Given the description of an element on the screen output the (x, y) to click on. 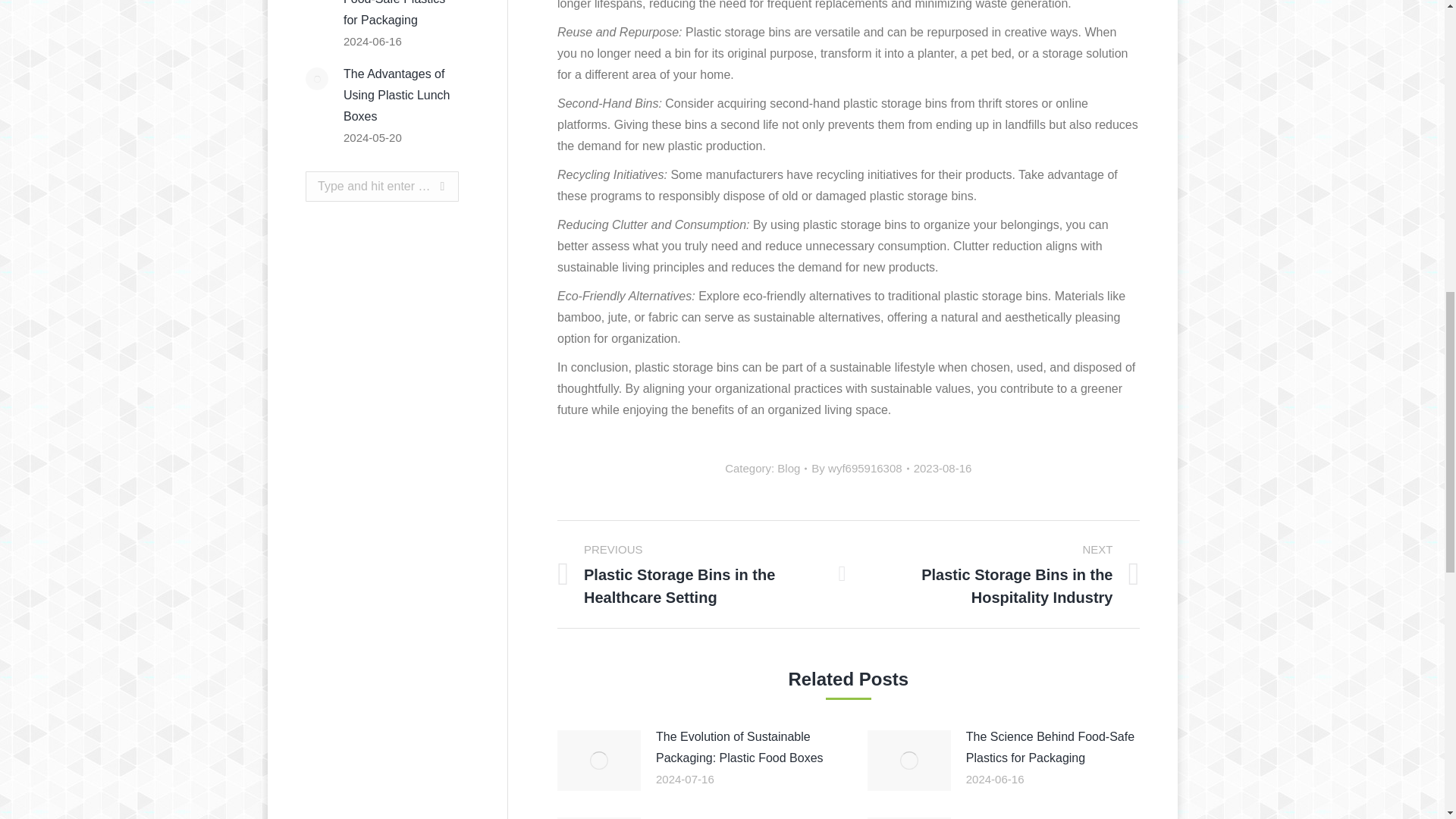
View all posts by wyf695916308 (859, 468)
Go! (428, 186)
17:04 (943, 468)
Go! (428, 186)
